Given the description of an element on the screen output the (x, y) to click on. 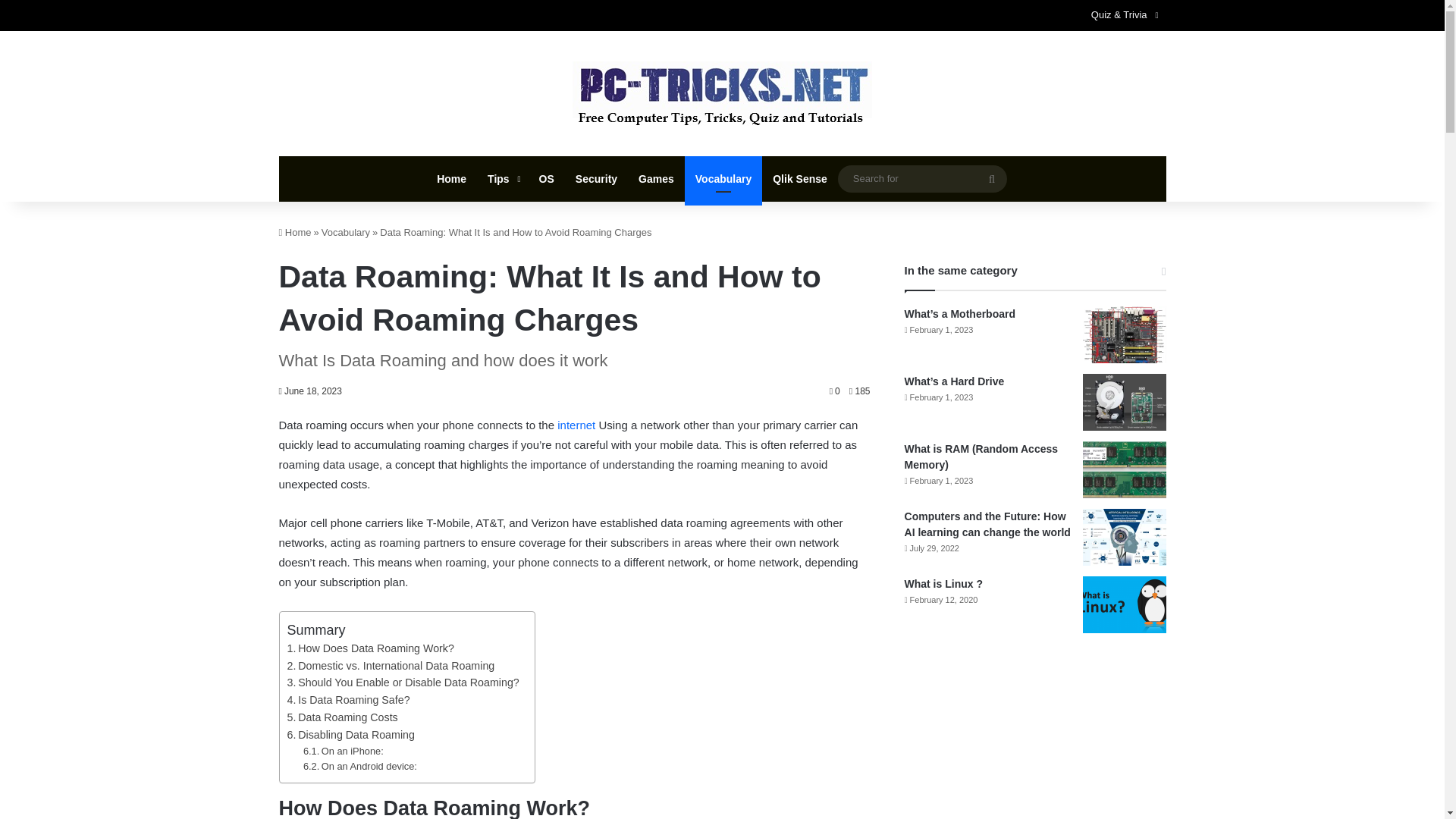
On an Android device: (359, 766)
On an iPhone: (343, 751)
Home (295, 232)
On an Android device: (359, 766)
Games (655, 178)
Computer tips and tricks (722, 93)
Disabling Data Roaming (349, 734)
Search for (922, 178)
Tips (502, 178)
Security (595, 178)
